Given the description of an element on the screen output the (x, y) to click on. 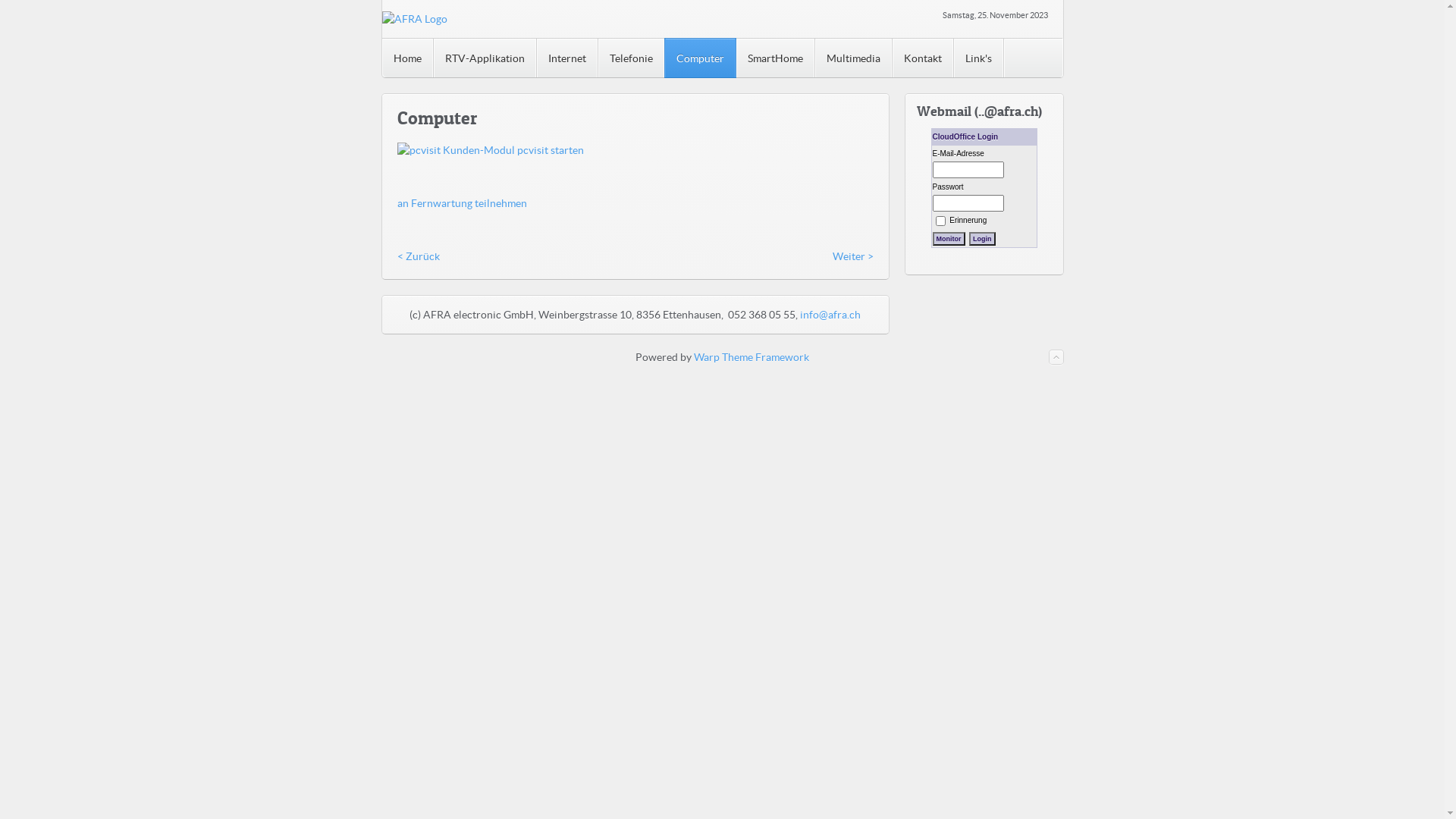
Monitor Element type: text (948, 238)
Home Element type: text (407, 57)
Internet Element type: text (567, 57)
Multimedia Element type: text (852, 57)
RTV-Applikation Element type: text (484, 57)
info@afra.ch Element type: text (830, 314)
pcvisit Kunden-Modul pcvisit starten Element type: hover (490, 150)
Telefonie Element type: text (630, 57)
Weiter > Element type: text (852, 255)
Kontakt Element type: text (922, 57)
an Fernwartung teilnehmen Element type: text (462, 203)
Warp Theme Framework Element type: text (751, 357)
Login Element type: text (982, 238)
Erinnerung Element type: text (967, 220)
Computer Element type: text (700, 57)
SmartHome Element type: text (774, 57)
Link's Element type: text (978, 57)
